Given the description of an element on the screen output the (x, y) to click on. 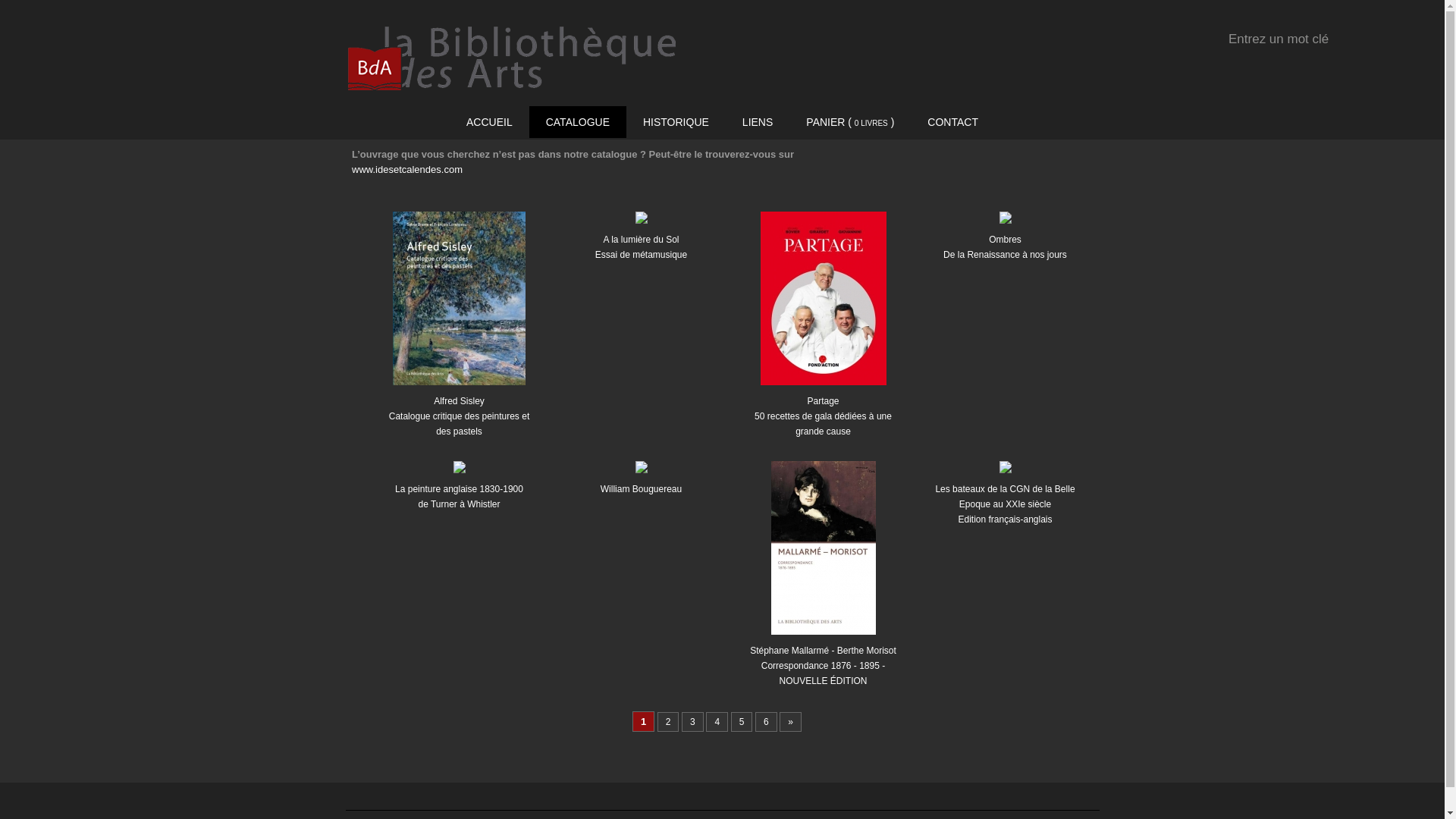
6 Element type: text (766, 721)
ACCUEIL Element type: text (489, 122)
LIENS Element type: text (757, 122)
2 Element type: text (668, 721)
HISTORIQUE Element type: text (675, 122)
4 Element type: text (717, 721)
CATALOGUE Element type: text (577, 122)
CONTACT Element type: text (952, 122)
5 Element type: text (742, 721)
3 Element type: text (692, 721)
www.idesetcalendes.com Element type: text (406, 169)
William Bouguereau Element type: text (641, 473)
PANIER ( 0 LIVRES ) Element type: text (849, 122)
